Given the description of an element on the screen output the (x, y) to click on. 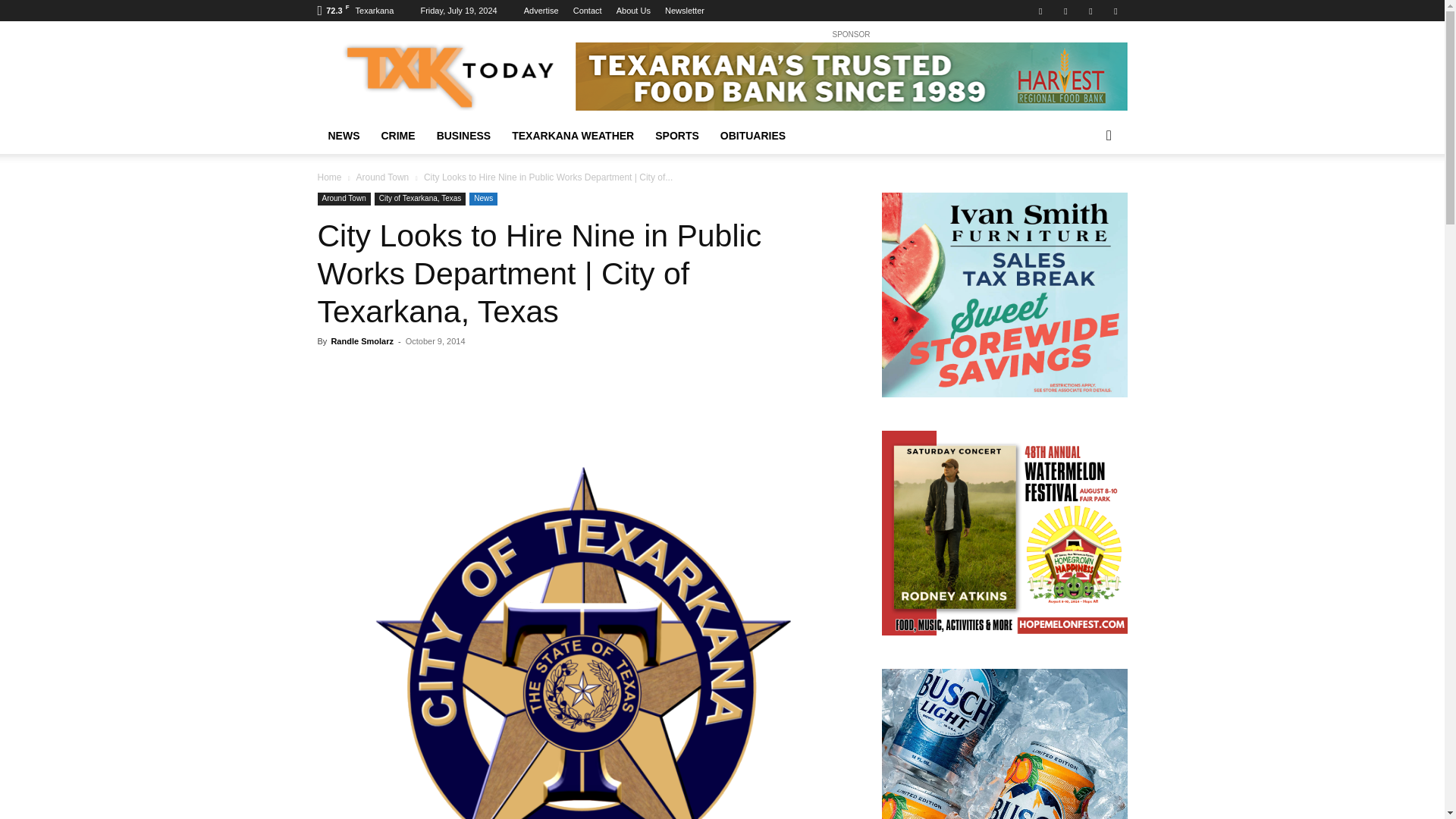
Around Town (382, 176)
OBITUARIES (753, 135)
Facebook (1040, 10)
Texarkana News (445, 76)
About Us (632, 10)
City of Texarkana, Texas (419, 198)
View all posts in Around Town (382, 176)
Advertise (541, 10)
News (482, 198)
Twitter (1090, 10)
TEXARKANA WEATHER (572, 135)
Youtube (1114, 10)
Pinterest (1065, 10)
Around Town (343, 198)
SPORTS (677, 135)
